Given the description of an element on the screen output the (x, y) to click on. 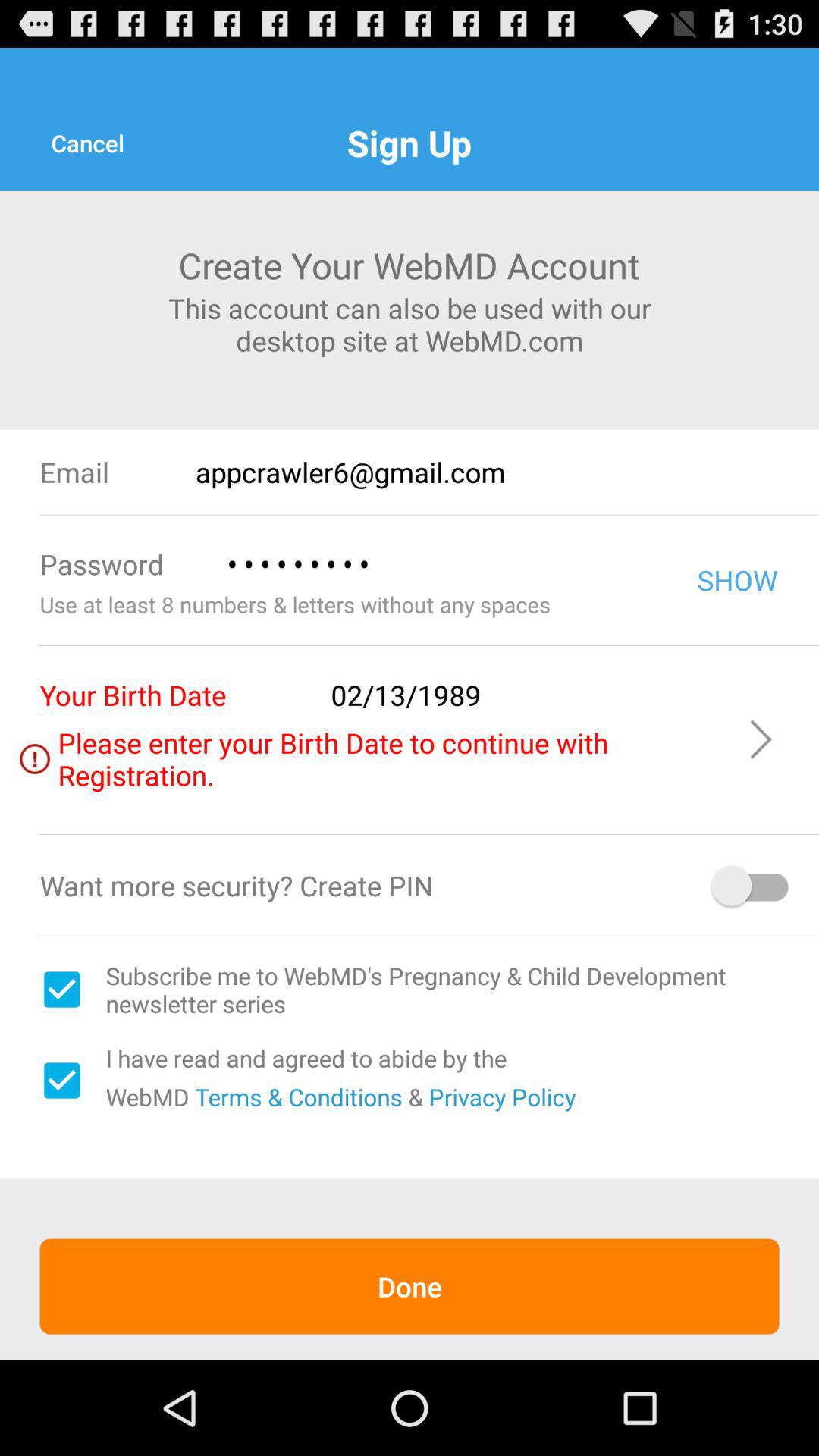
uncheck selection (61, 1080)
